Given the description of an element on the screen output the (x, y) to click on. 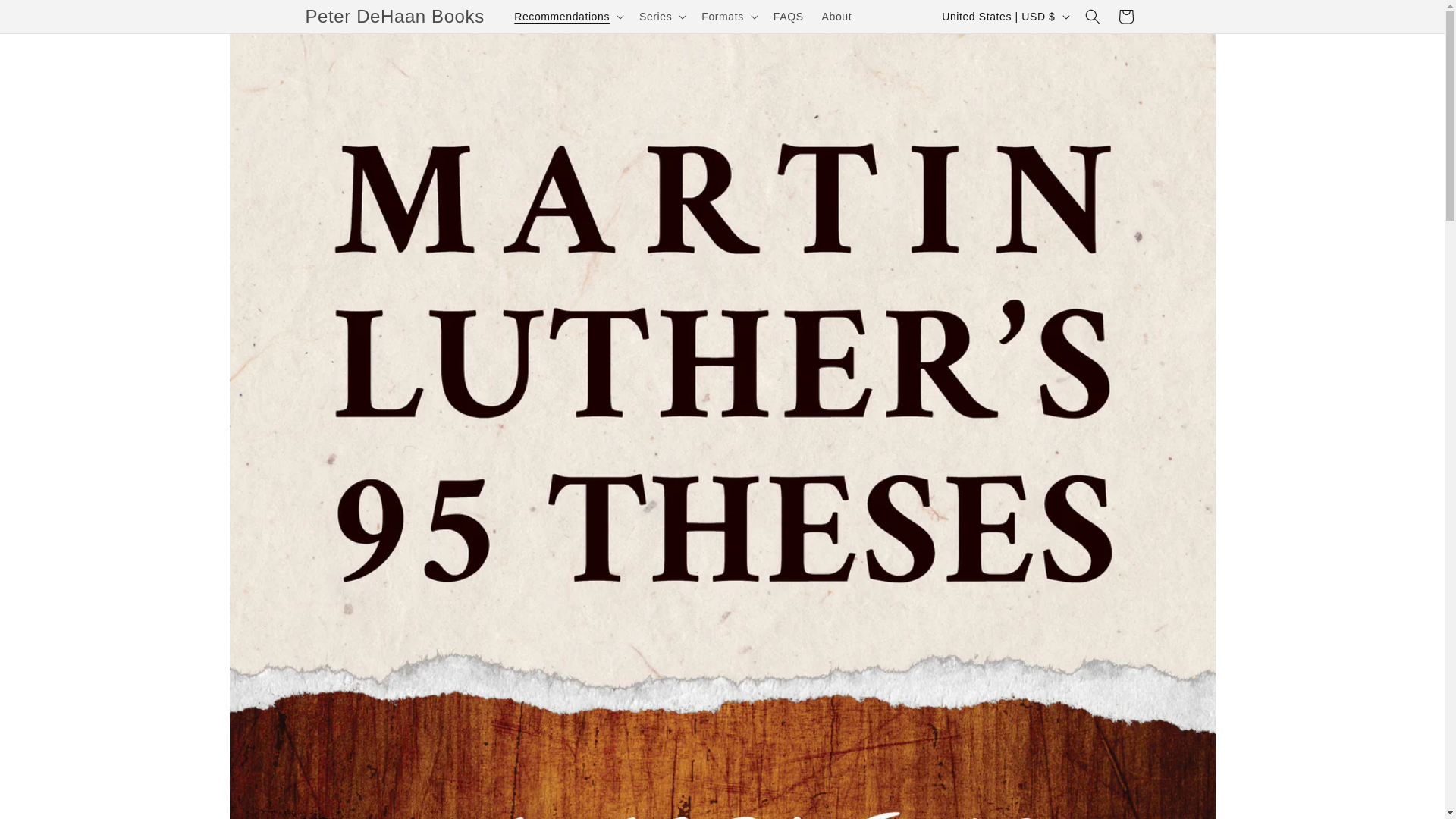
FAQS (788, 16)
Skip to content (45, 17)
Peter DeHaan Books (394, 16)
About (836, 16)
Cart (1124, 16)
